Given the description of an element on the screen output the (x, y) to click on. 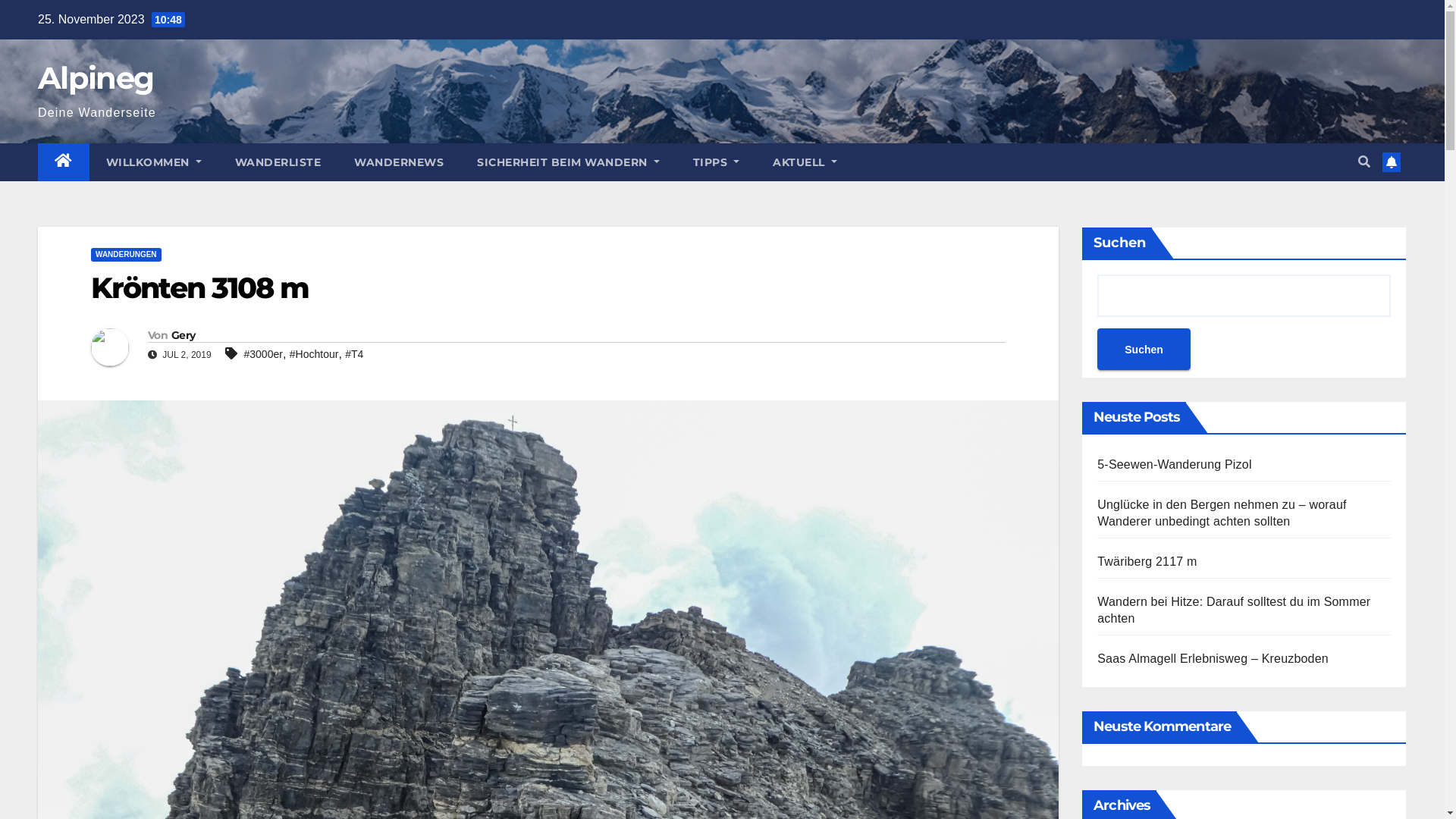
#3000er Element type: text (263, 354)
Alpineg Element type: text (95, 77)
Wandern bei Hitze: Darauf solltest du im Sommer achten Element type: text (1233, 609)
5-Seewen-Wanderung Pizol Element type: text (1174, 464)
WANDERNEWS Element type: text (398, 162)
Suchen Element type: text (1143, 349)
SICHERHEIT BEIM WANDERN Element type: text (568, 162)
TIPPS Element type: text (716, 162)
AKTUELL Element type: text (804, 162)
#T4 Element type: text (354, 354)
WILLKOMMEN Element type: text (153, 162)
Gery Element type: text (182, 335)
WANDERLISTE Element type: text (278, 162)
WANDERUNGEN Element type: text (126, 254)
#Hochtour Element type: text (313, 354)
